Given the description of an element on the screen output the (x, y) to click on. 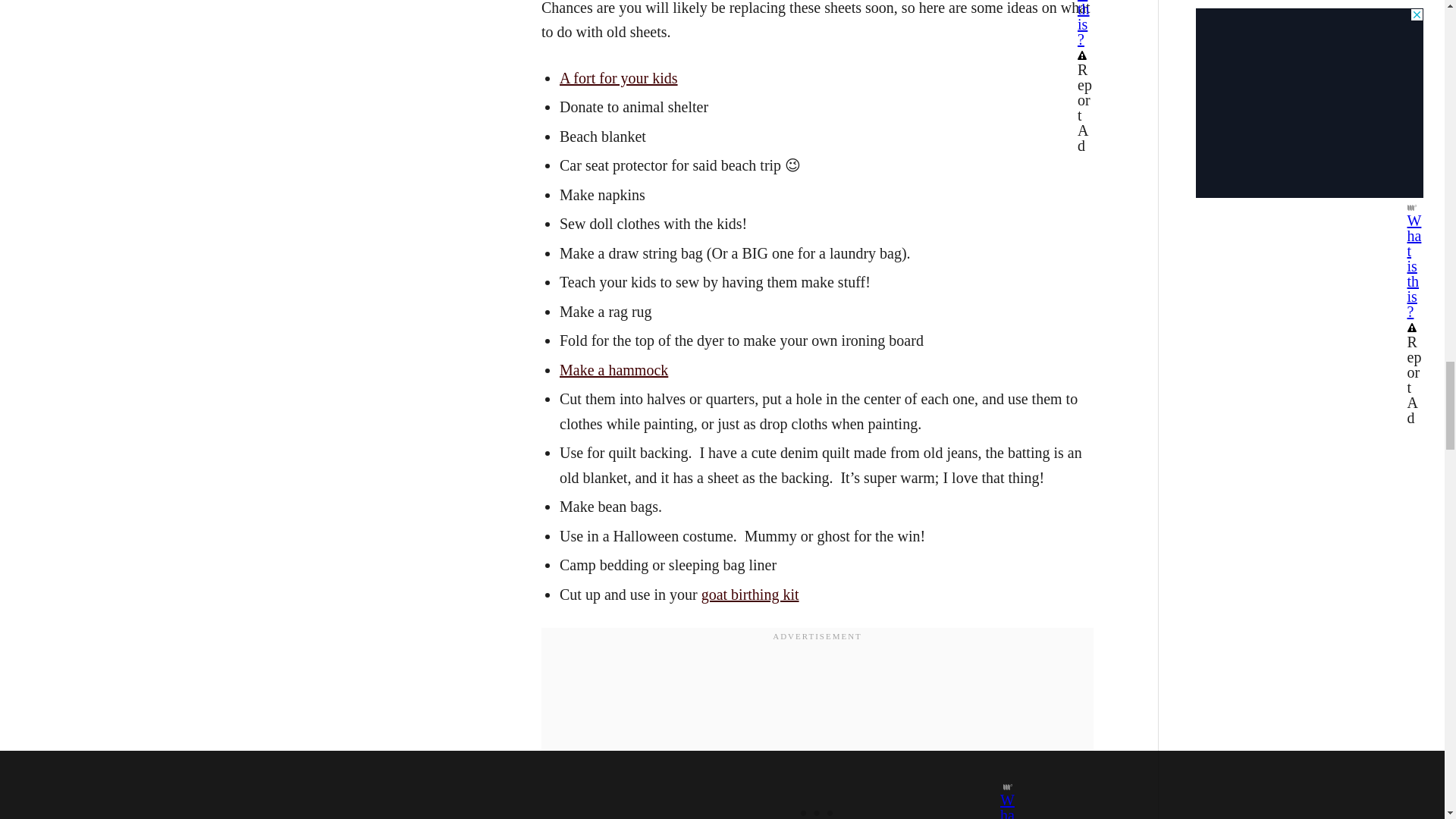
goat birthing kit (750, 594)
A fort for your kids (618, 77)
Make a hammock (613, 369)
